Given the description of an element on the screen output the (x, y) to click on. 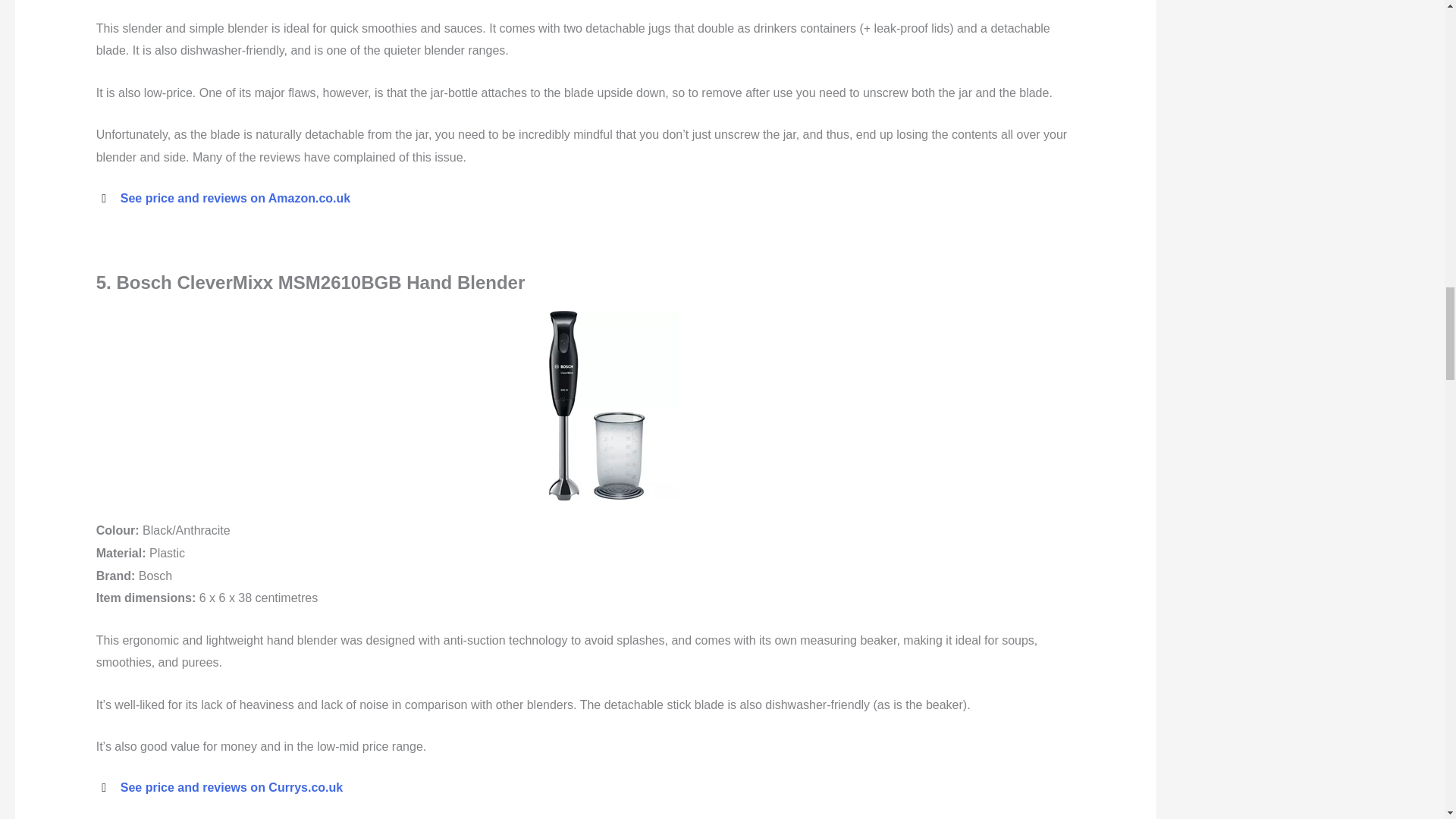
See price and reviews on Currys.co.uk (231, 787)
See price and reviews on Amazon.co.uk (235, 197)
